Given the description of an element on the screen output the (x, y) to click on. 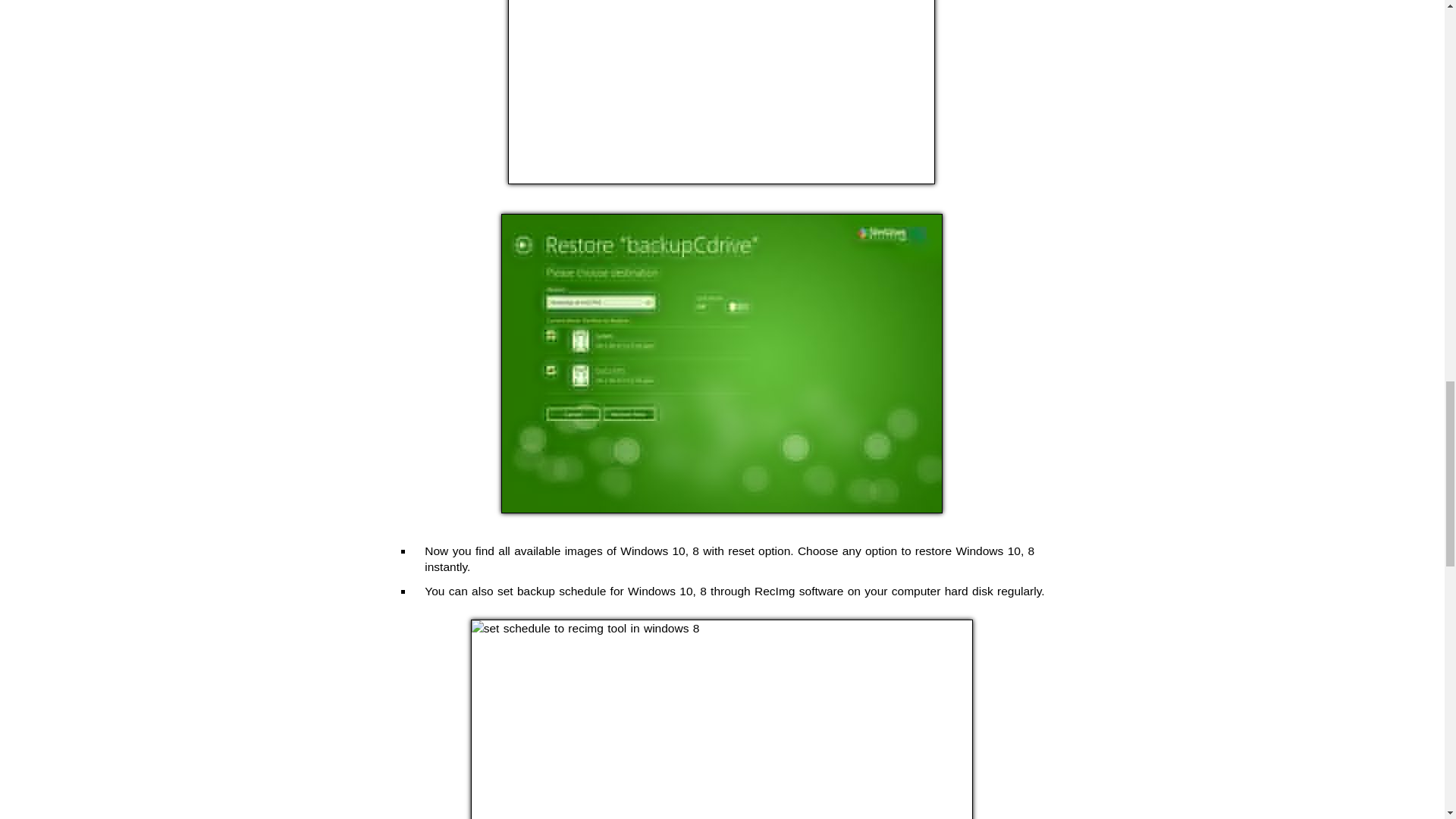
recimg tool restore to windows 8 (721, 92)
set schedule to recimg tool in windows 8 (721, 719)
